Given the description of an element on the screen output the (x, y) to click on. 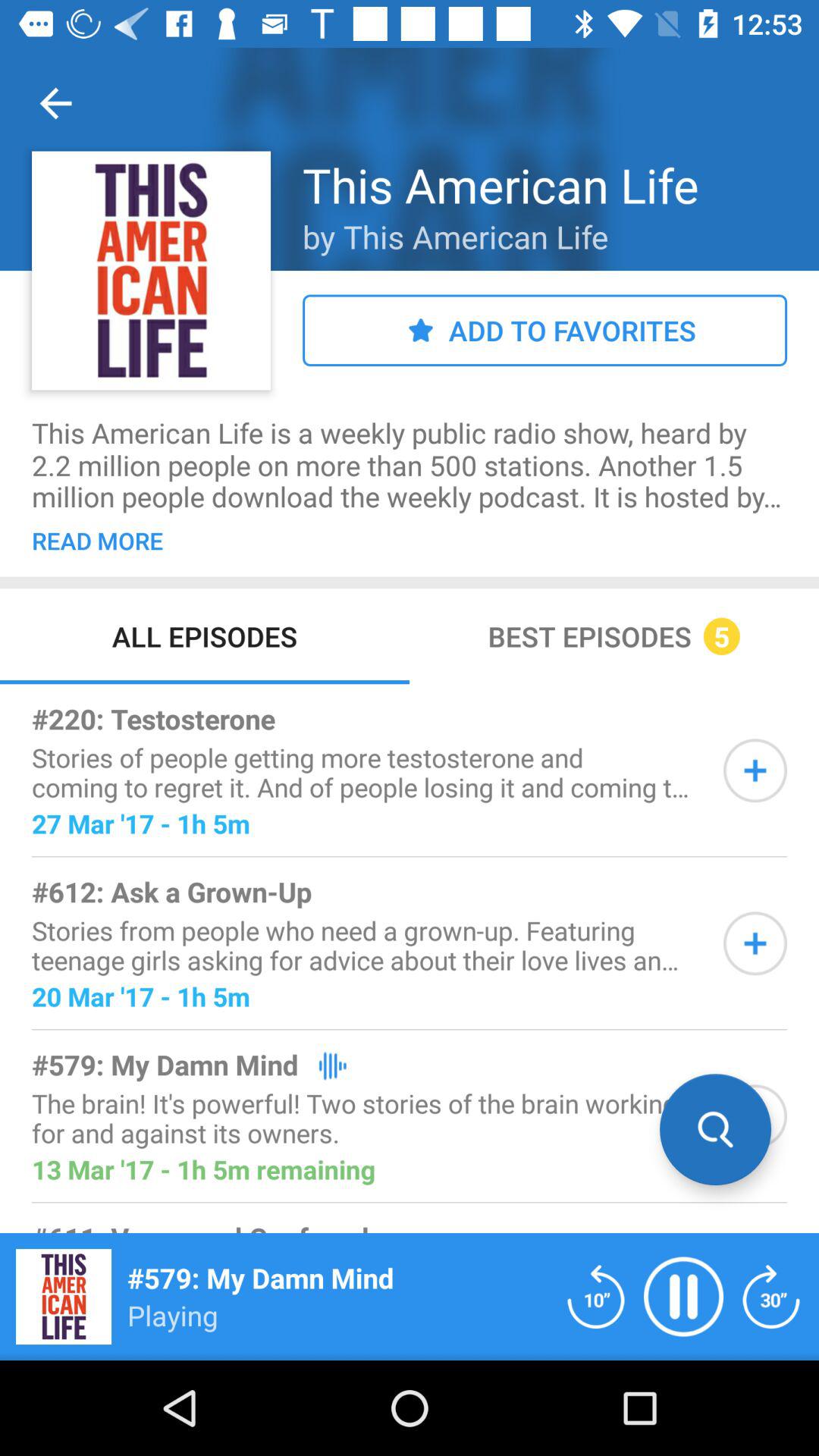
fast forward 10s (771, 1296)
